Given the description of an element on the screen output the (x, y) to click on. 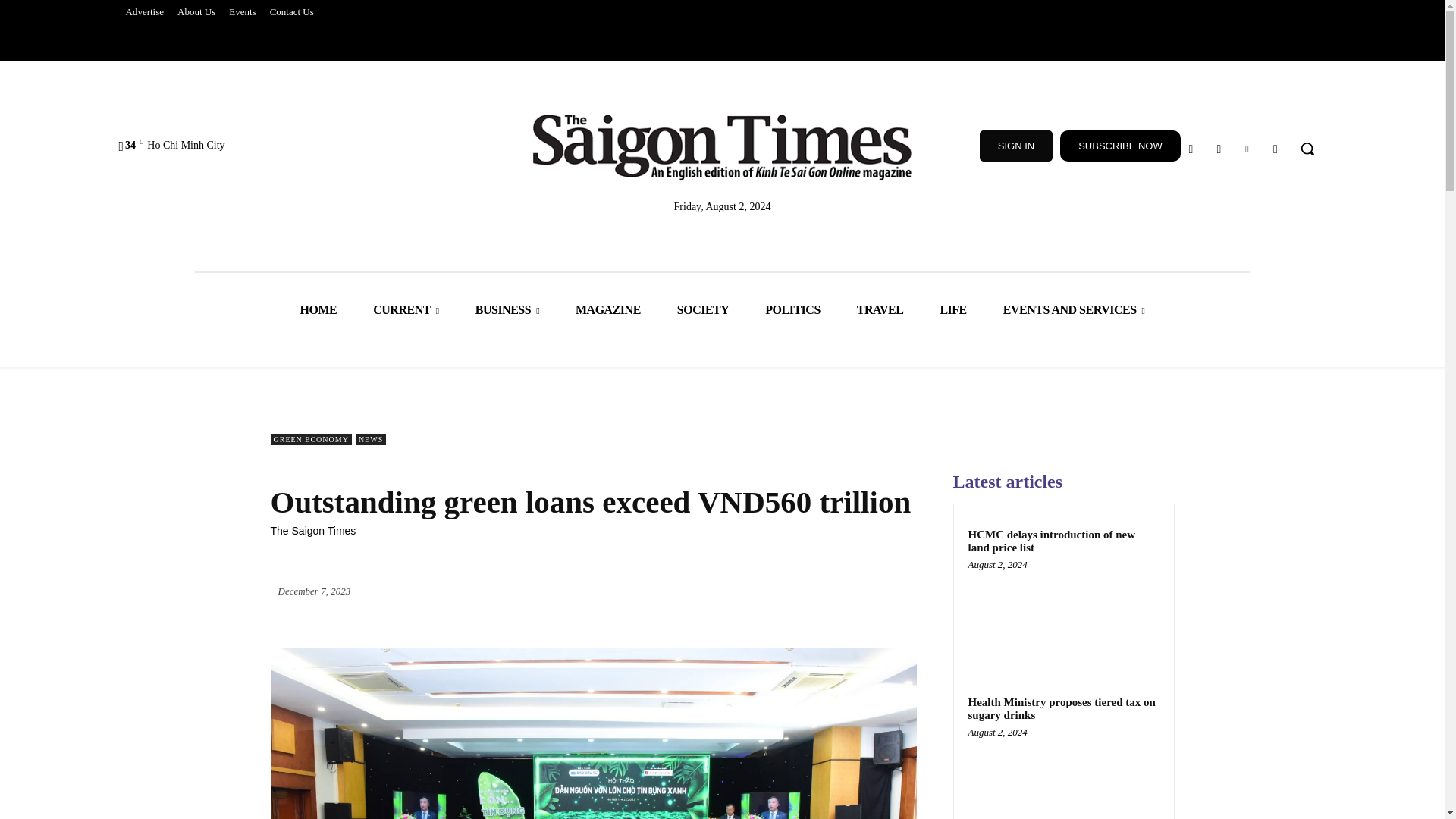
SIGN IN (1015, 145)
About Us (196, 12)
Instagram (1218, 148)
Contact Us (291, 12)
Twitter (1275, 148)
Facebook (1190, 148)
subscribe now (1119, 145)
Events (242, 12)
Advertise (143, 12)
sign in (1015, 145)
